Given the description of an element on the screen output the (x, y) to click on. 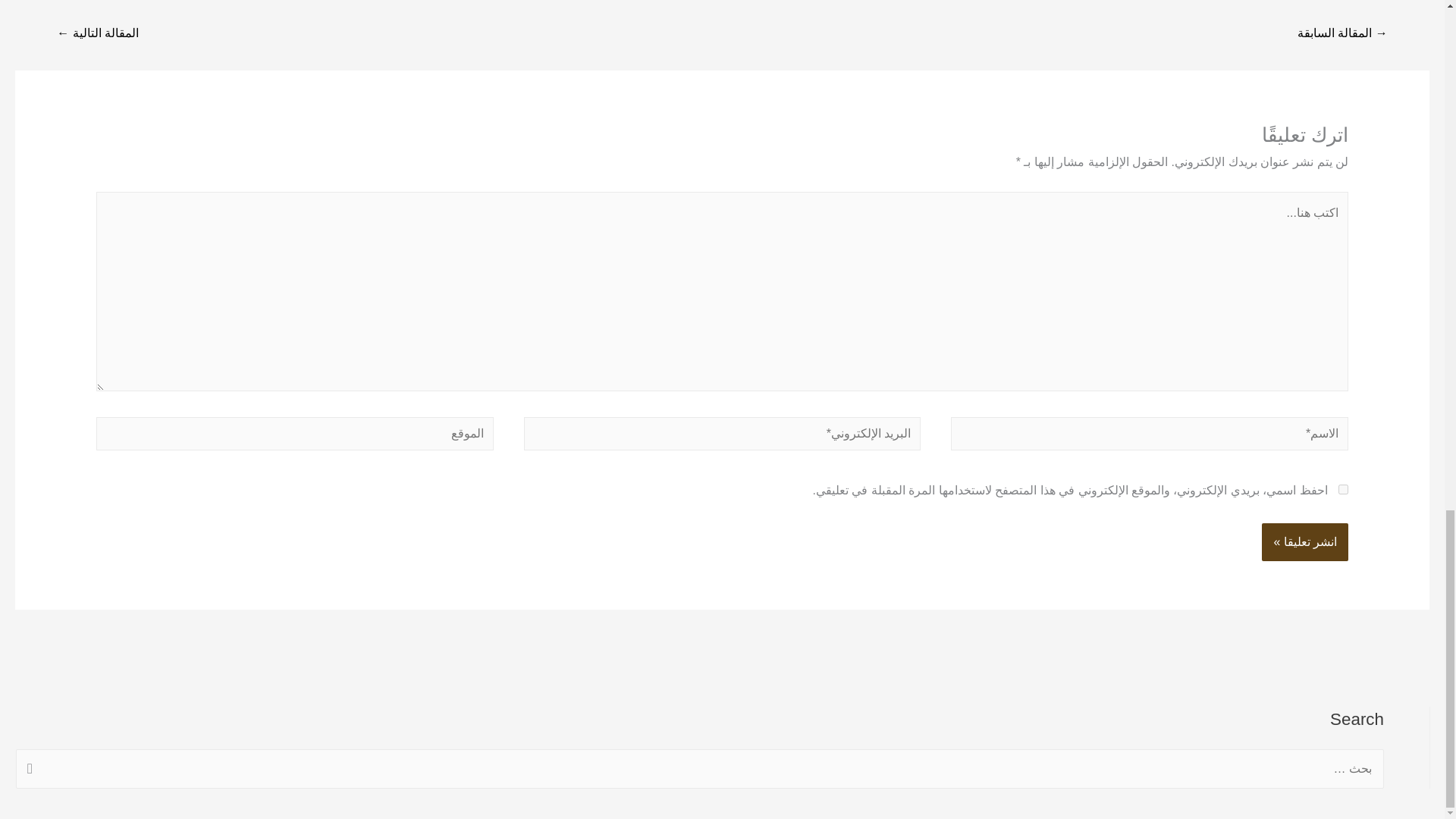
yes (1343, 489)
